Given the description of an element on the screen output the (x, y) to click on. 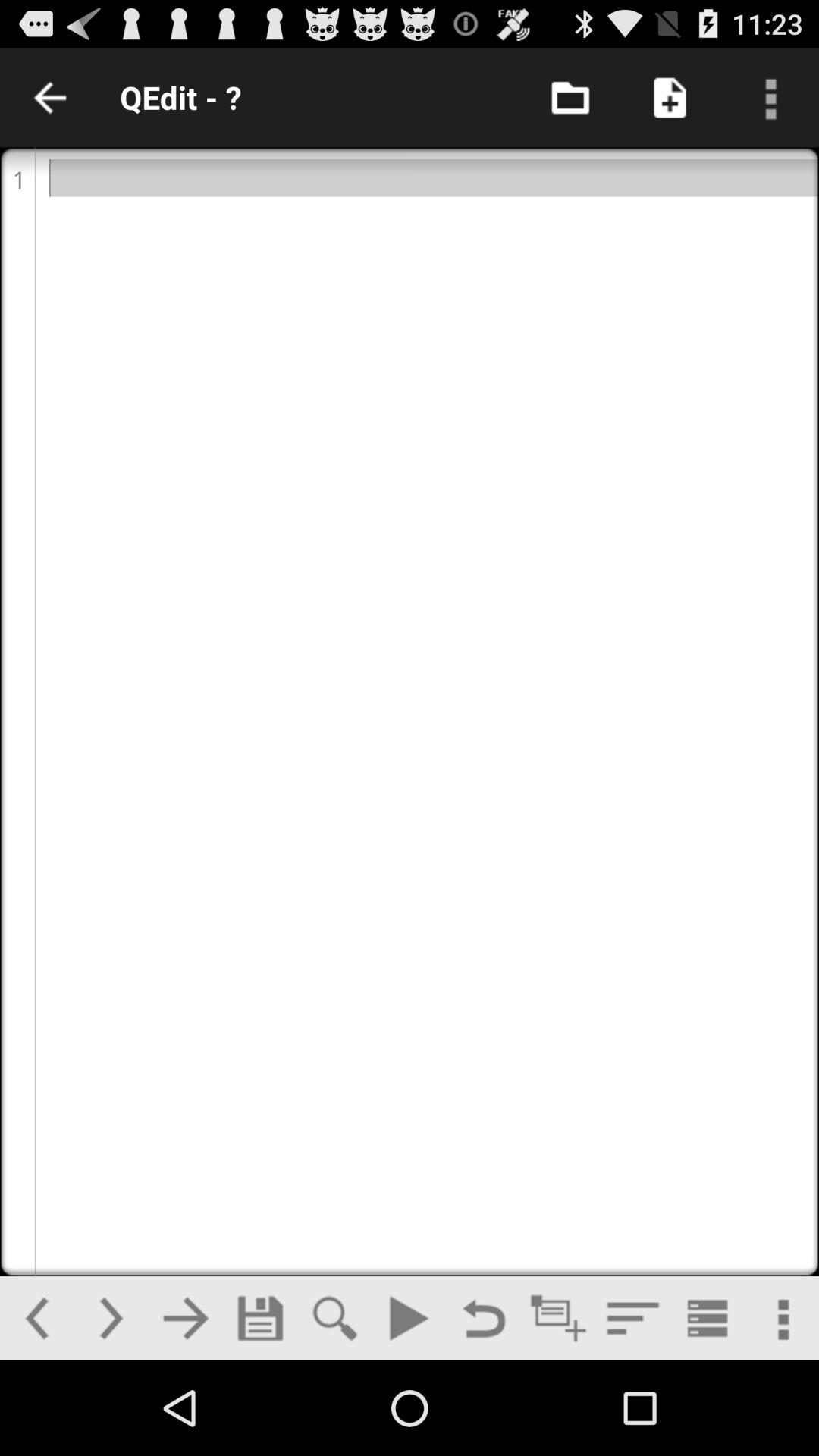
select files menu (569, 97)
